Given the description of an element on the screen output the (x, y) to click on. 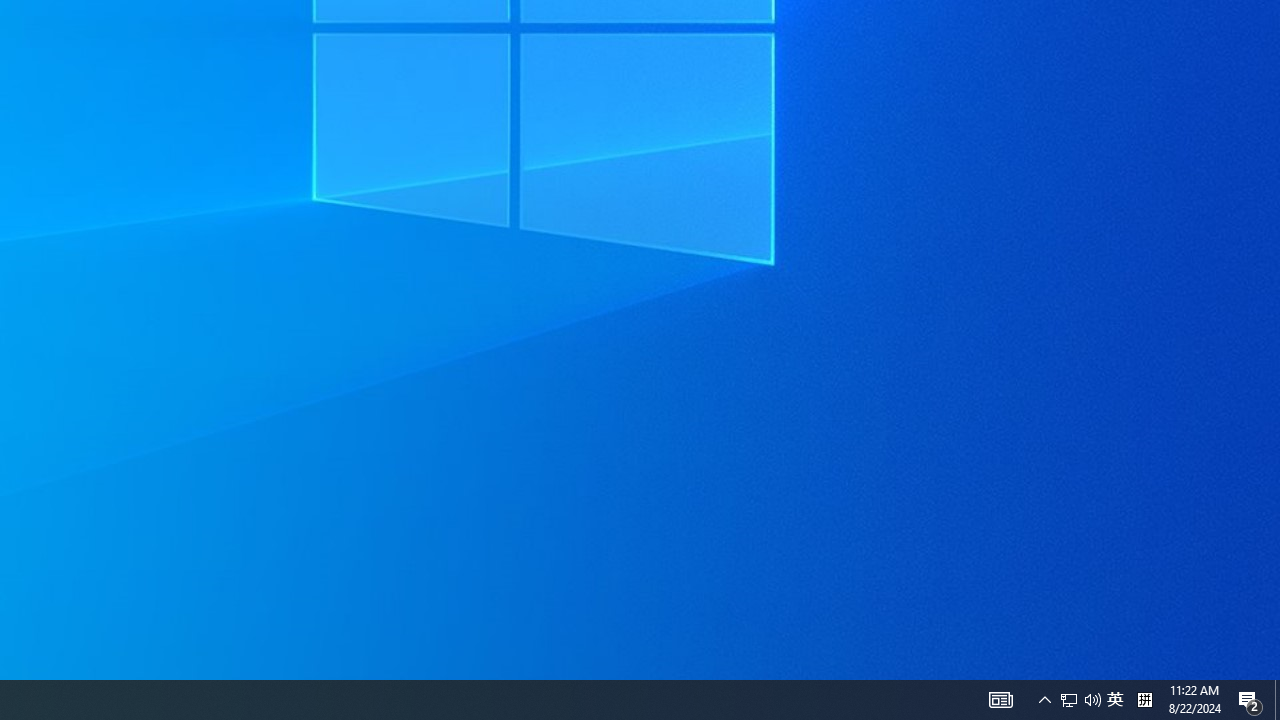
Show desktop (1115, 699)
AutomationID: 4105 (1277, 699)
User Promoted Notification Area (1000, 699)
Q2790: 100% (1069, 699)
Tray Input Indicator - Chinese (Simplified, China) (1080, 699)
Action Center, 2 new notifications (1092, 699)
Notification Chevron (1144, 699)
